Given the description of an element on the screen output the (x, y) to click on. 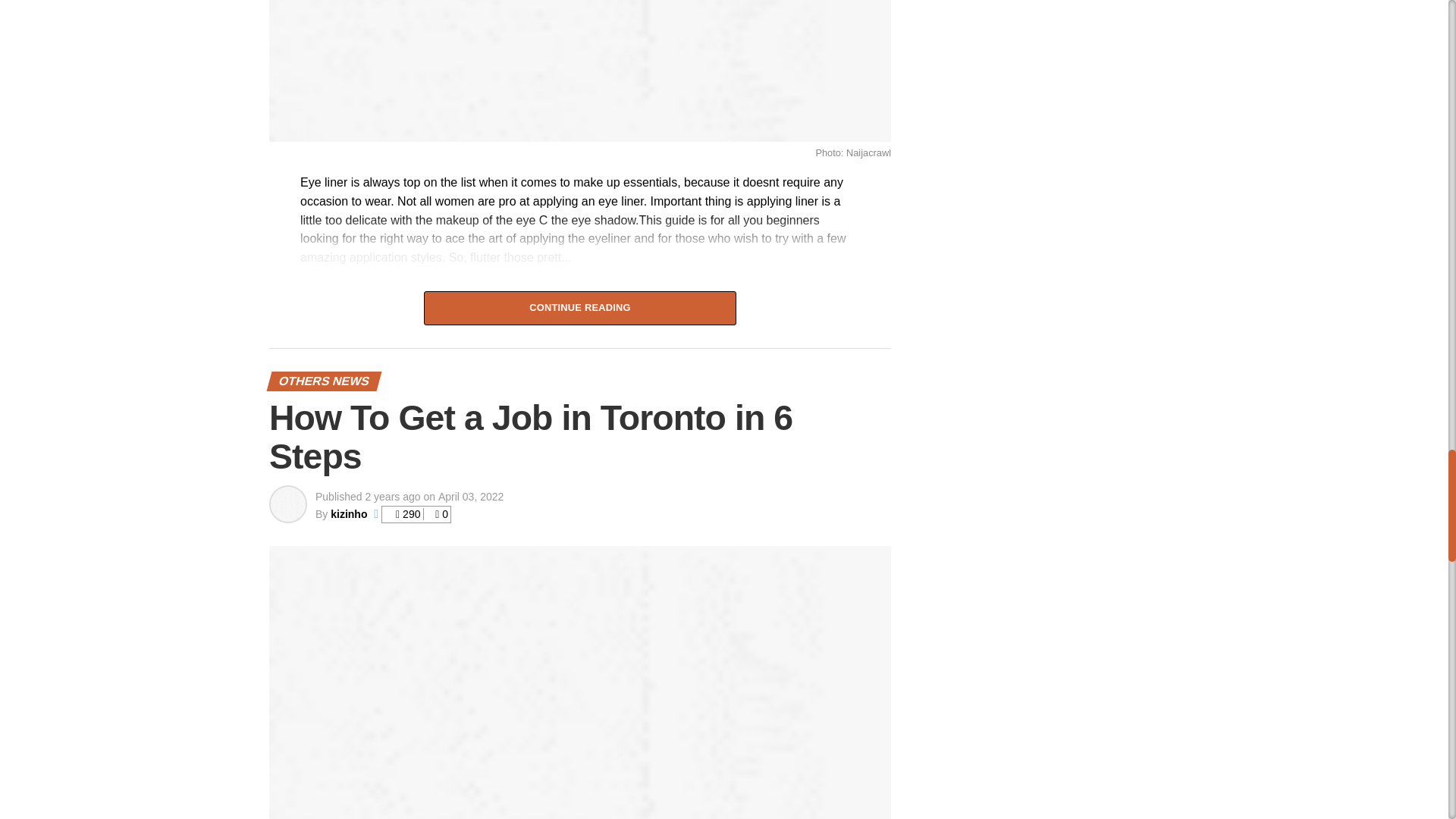
Posts by kizinho (348, 513)
